Given the description of an element on the screen output the (x, y) to click on. 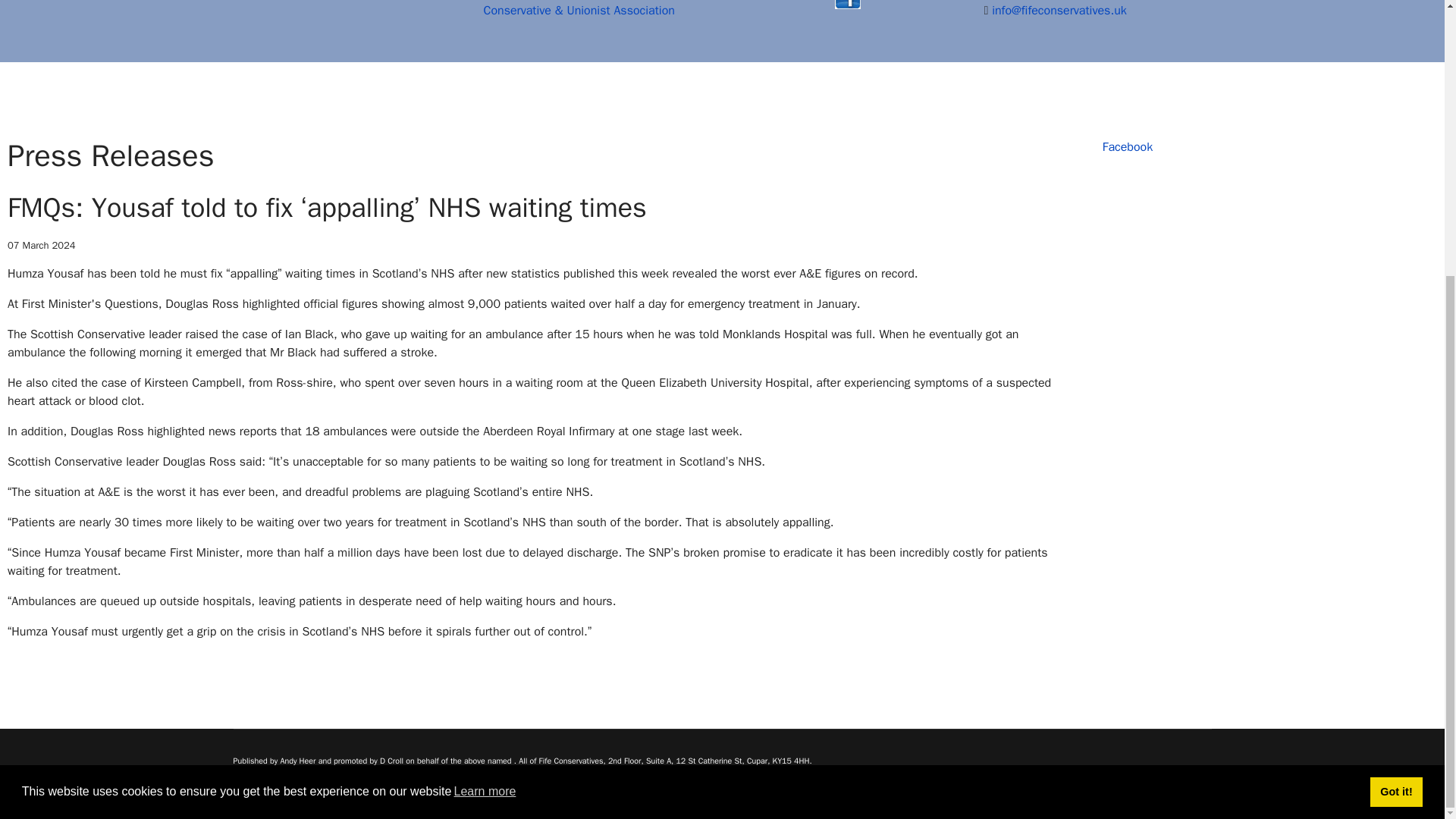
Got it! (1396, 384)
Learn more (484, 384)
Published: 07 March 2024 (41, 245)
Facebook (1127, 146)
